Given the description of an element on the screen output the (x, y) to click on. 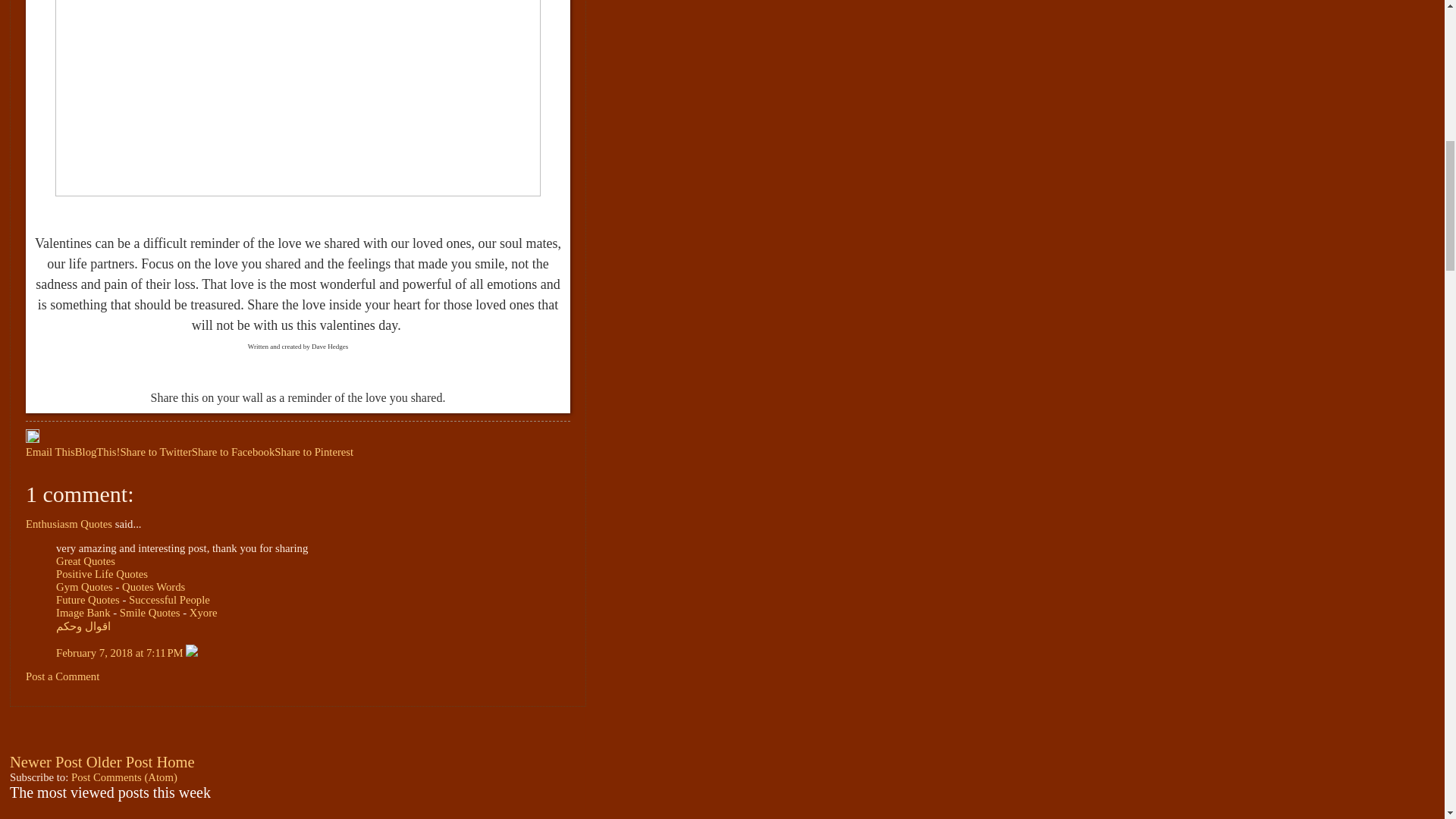
Xyore (202, 612)
Share to Twitter (154, 451)
Gym Quotes (84, 586)
Older Post (118, 761)
Image Bank (83, 612)
Edit Post (32, 439)
Post a Comment (62, 676)
Positive Life Quotes (102, 573)
Gym Quotes (84, 586)
Enthusiasm Quotes (69, 523)
Quotes Words (153, 586)
Newer Post (46, 761)
Share to Facebook (233, 451)
Great Quotes (85, 561)
